Given the description of an element on the screen output the (x, y) to click on. 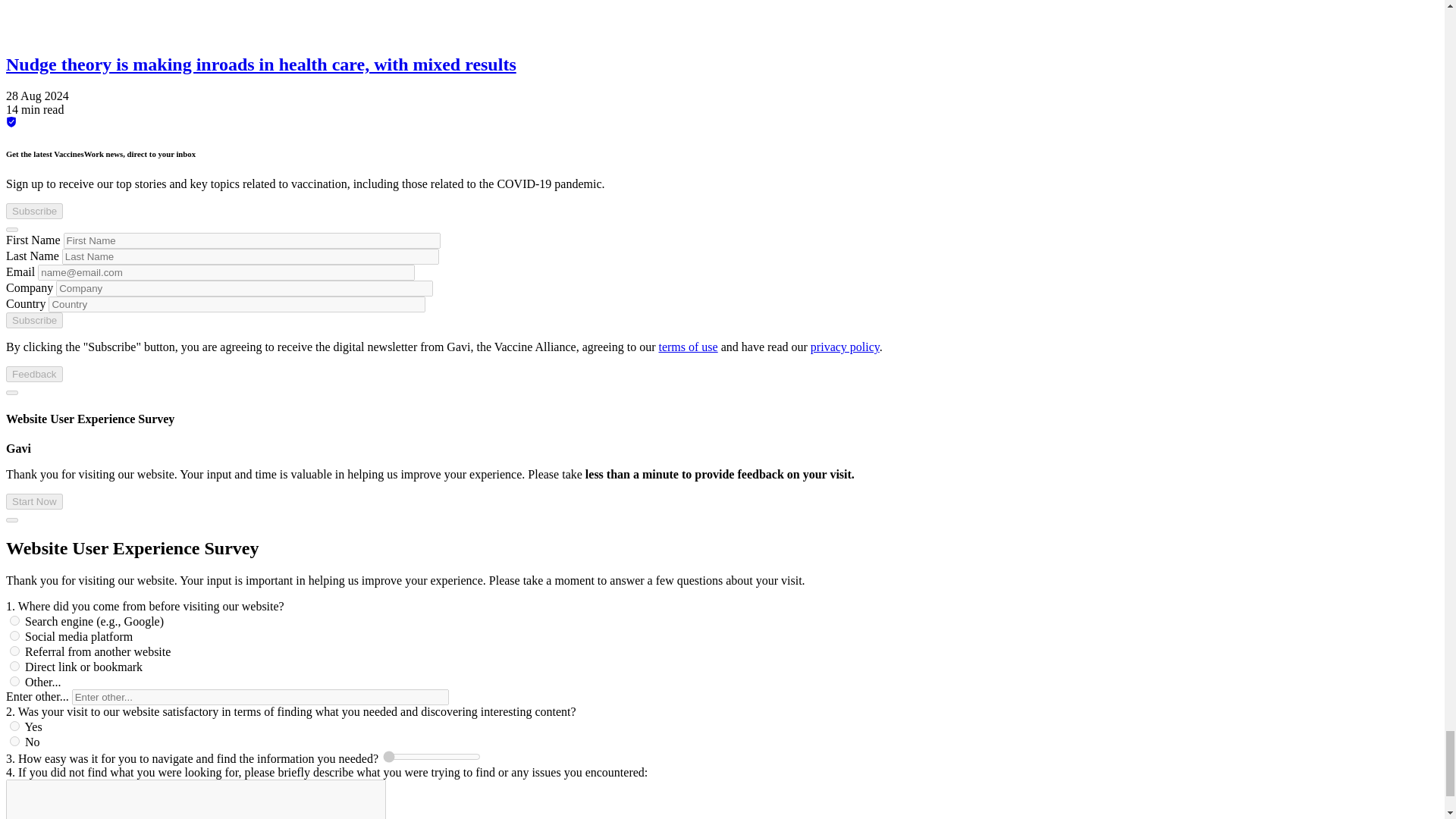
Subscribe (33, 320)
0 (431, 756)
Search engine (15, 620)
Referral from another website (15, 651)
Social media platform (15, 635)
verified (10, 122)
Direct link or bookmark (15, 665)
Yes (15, 726)
No (15, 741)
